Given the description of an element on the screen output the (x, y) to click on. 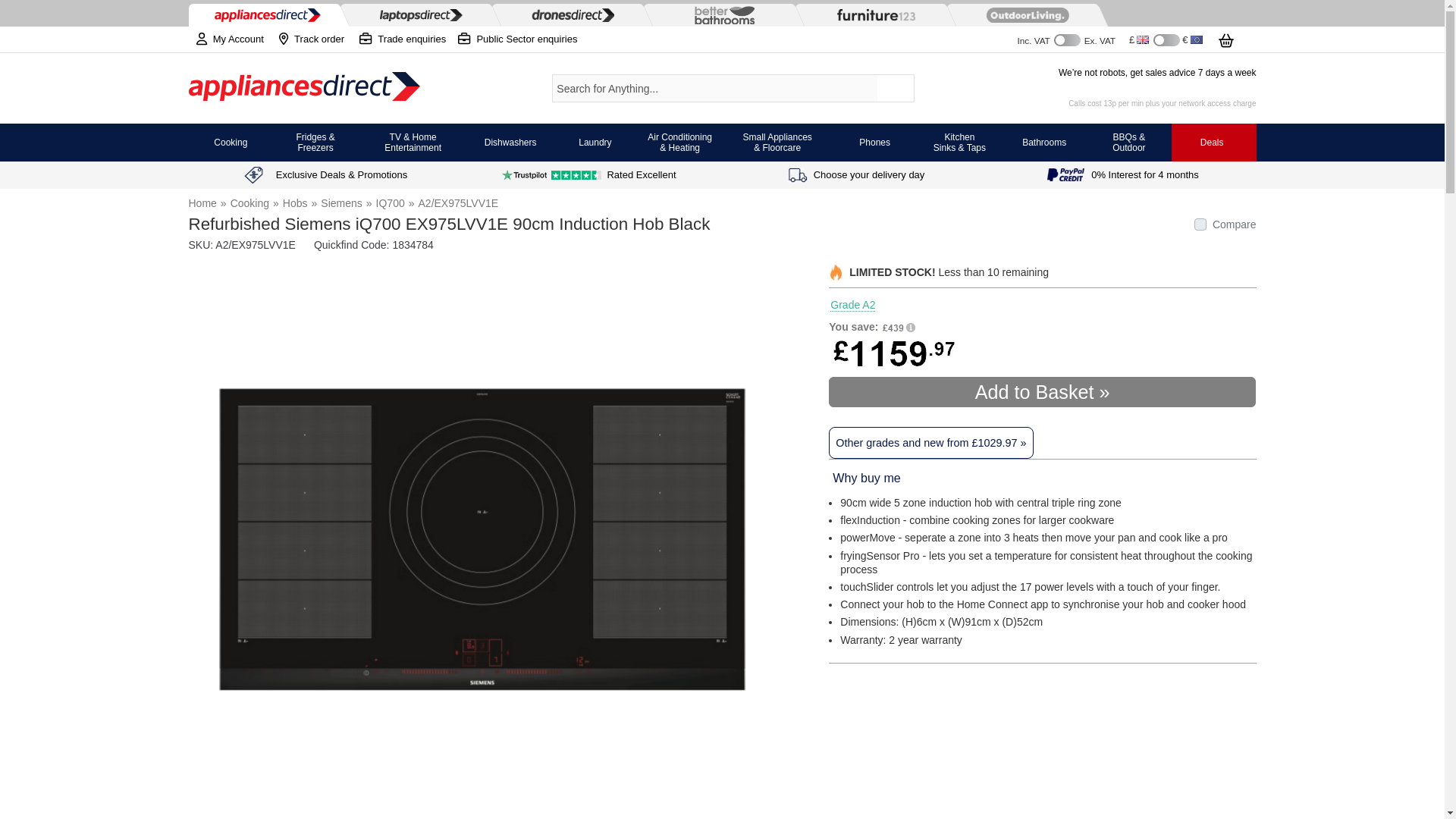
Search for Anything... (714, 88)
Track order (311, 38)
Trade Enquiries (517, 38)
Drones Direct (569, 14)
My Account (225, 39)
Appliances Direct Order Tracking (311, 38)
Search for Anything... (714, 88)
Outdoor Living (1024, 14)
Public Sector enquiries (517, 38)
Appliances Direct (303, 88)
Trade enquiries (402, 38)
Your basket contains (1236, 37)
Better Bathrooms (720, 15)
